Given the description of an element on the screen output the (x, y) to click on. 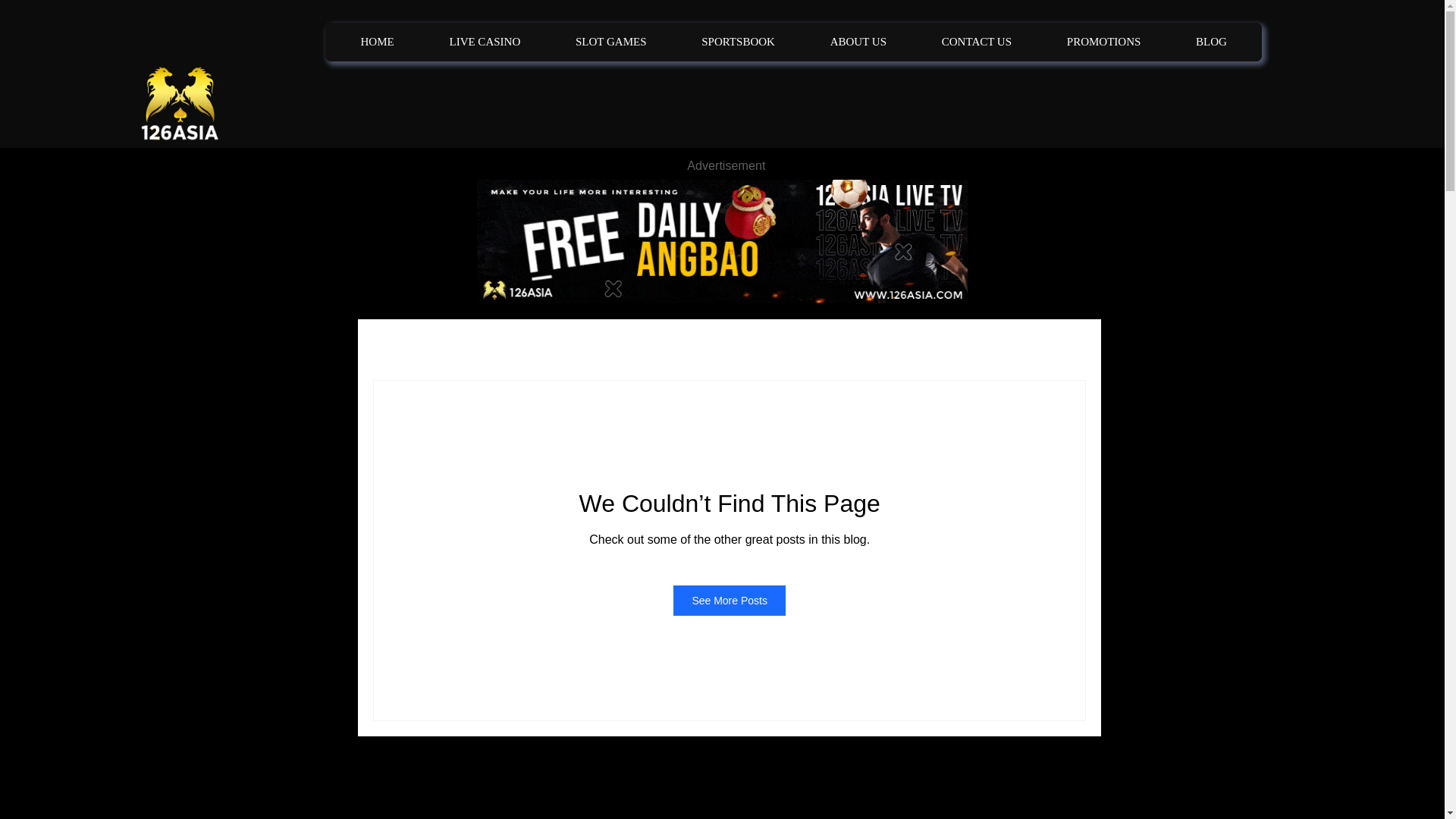
All Posts (388, 349)
Slot Games (601, 349)
Horse Racing (676, 349)
SPORTSBOOK (738, 42)
HOME (377, 42)
LIVE CASINO (485, 42)
See More Posts (729, 600)
CONTACT US (976, 42)
Live Casino (456, 349)
ABOUT US (858, 42)
